Given the description of an element on the screen output the (x, y) to click on. 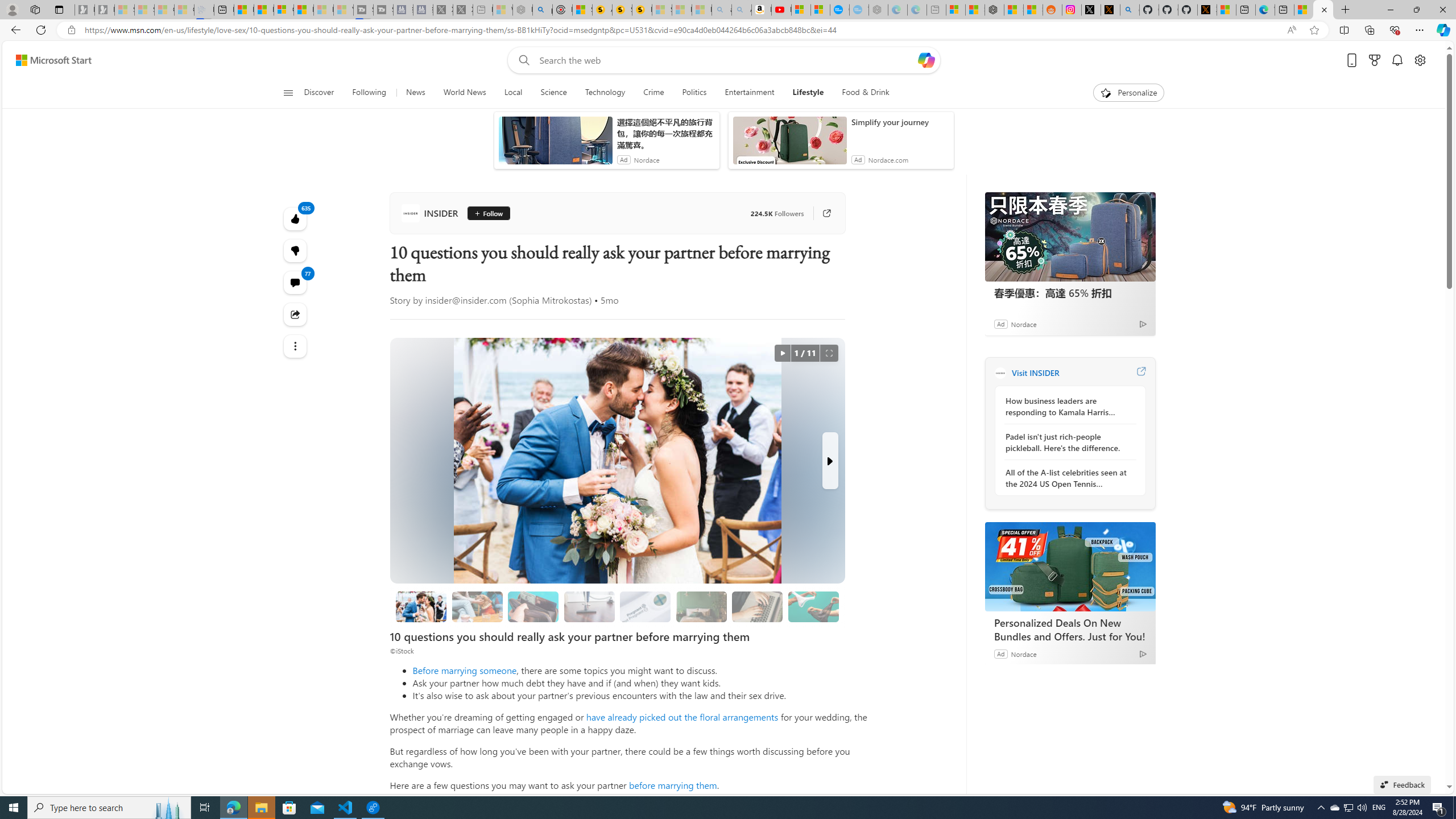
Class: button-glyph (287, 92)
Do you want kids? If so, when? (644, 606)
Entertainment (748, 92)
Lifestyle (808, 92)
Go to publisher's site (820, 213)
Entertainment (749, 92)
amazon - Search - Sleeping (721, 9)
View comments 77 Comment (295, 282)
Crime (653, 92)
Skip to content (49, 59)
